Given the description of an element on the screen output the (x, y) to click on. 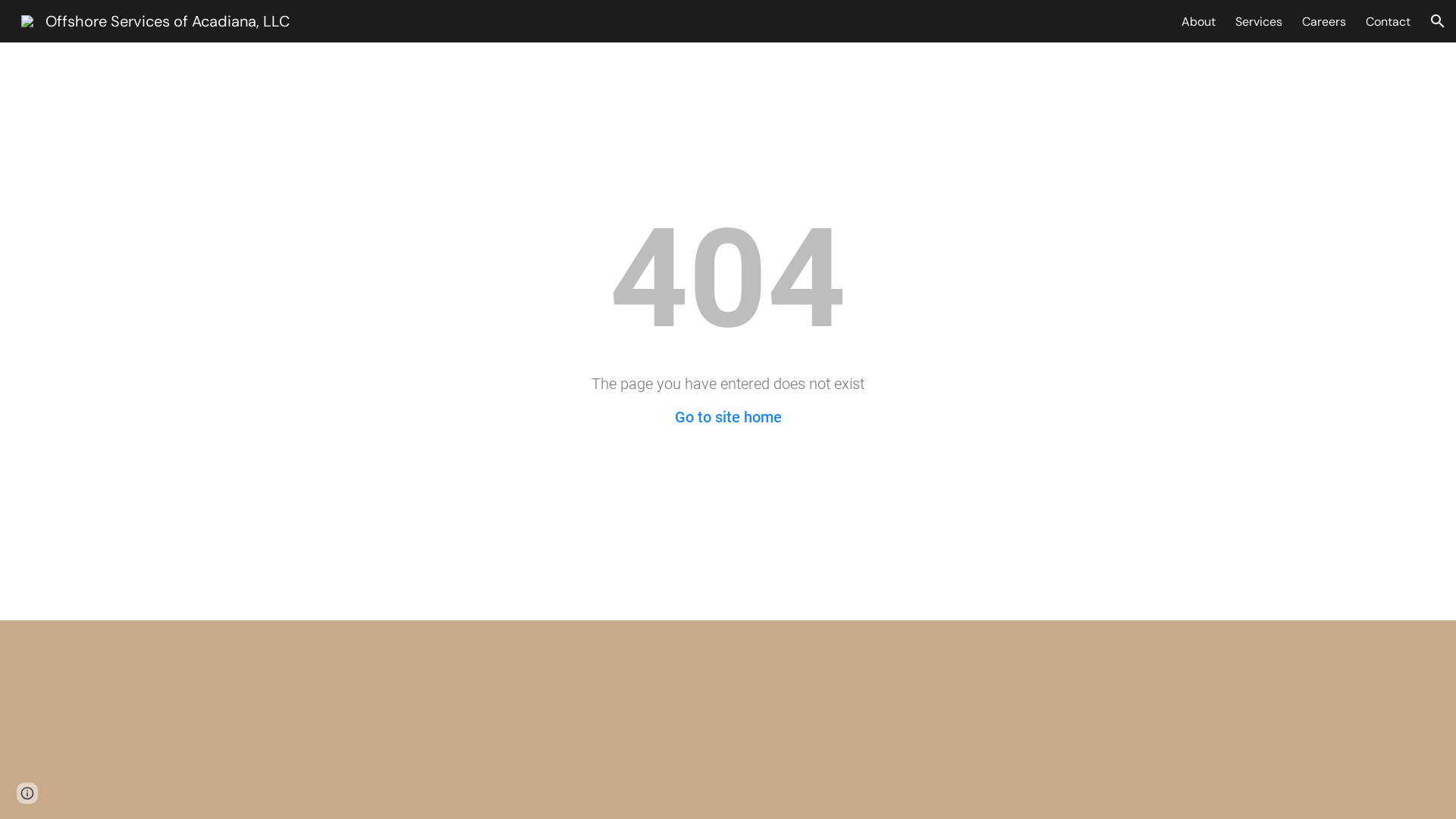
Offshore Services of Acadiana, LLC Element type: text (155, 19)
Contact Element type: text (1387, 21)
Services Element type: text (1258, 21)
Careers Element type: text (1324, 21)
Go to site home Element type: text (727, 416)
About Element type: text (1198, 21)
